Given the description of an element on the screen output the (x, y) to click on. 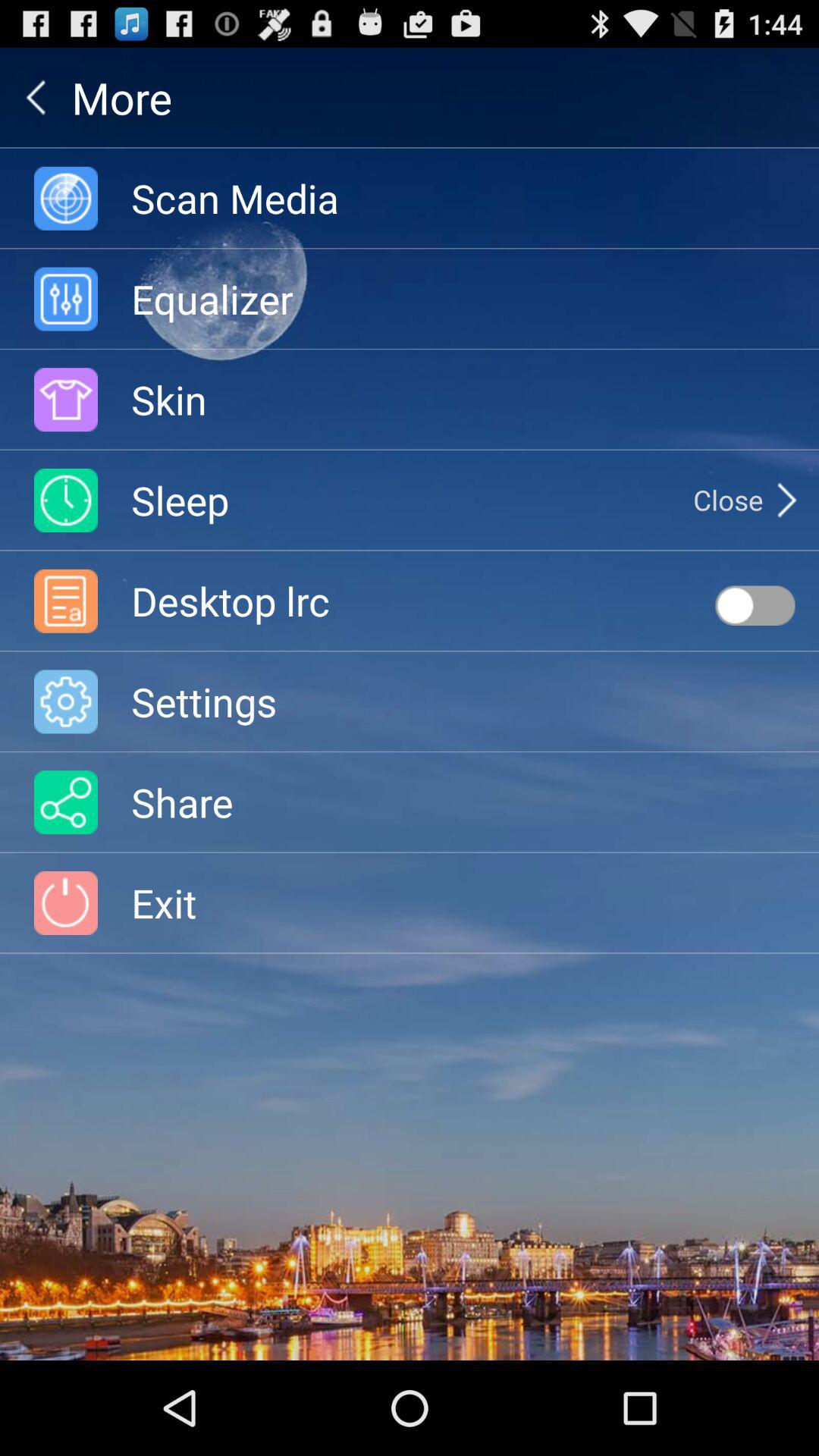
select item next to the desktop lrc (755, 605)
